Given the description of an element on the screen output the (x, y) to click on. 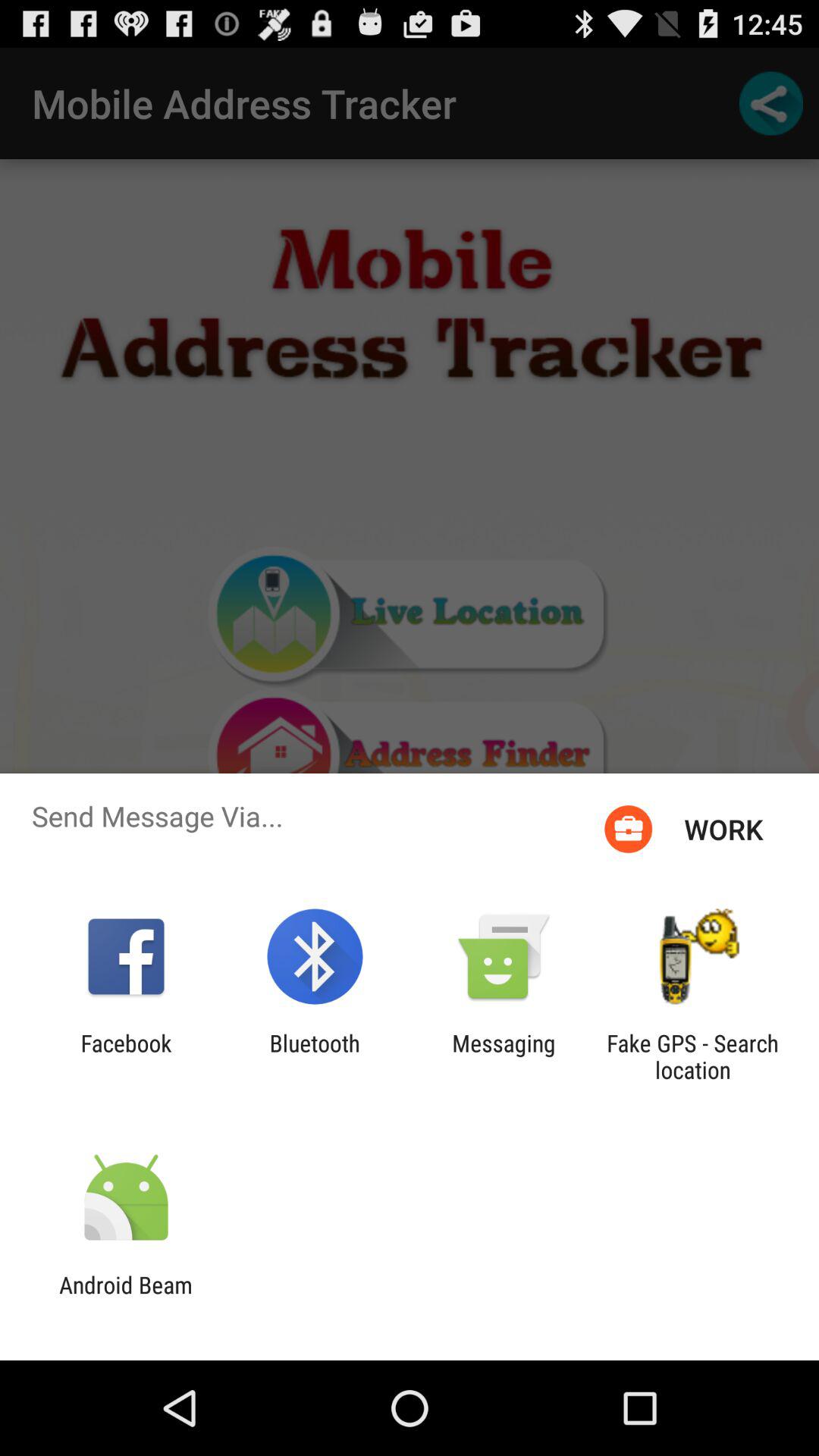
select the app next to messaging icon (692, 1056)
